Given the description of an element on the screen output the (x, y) to click on. 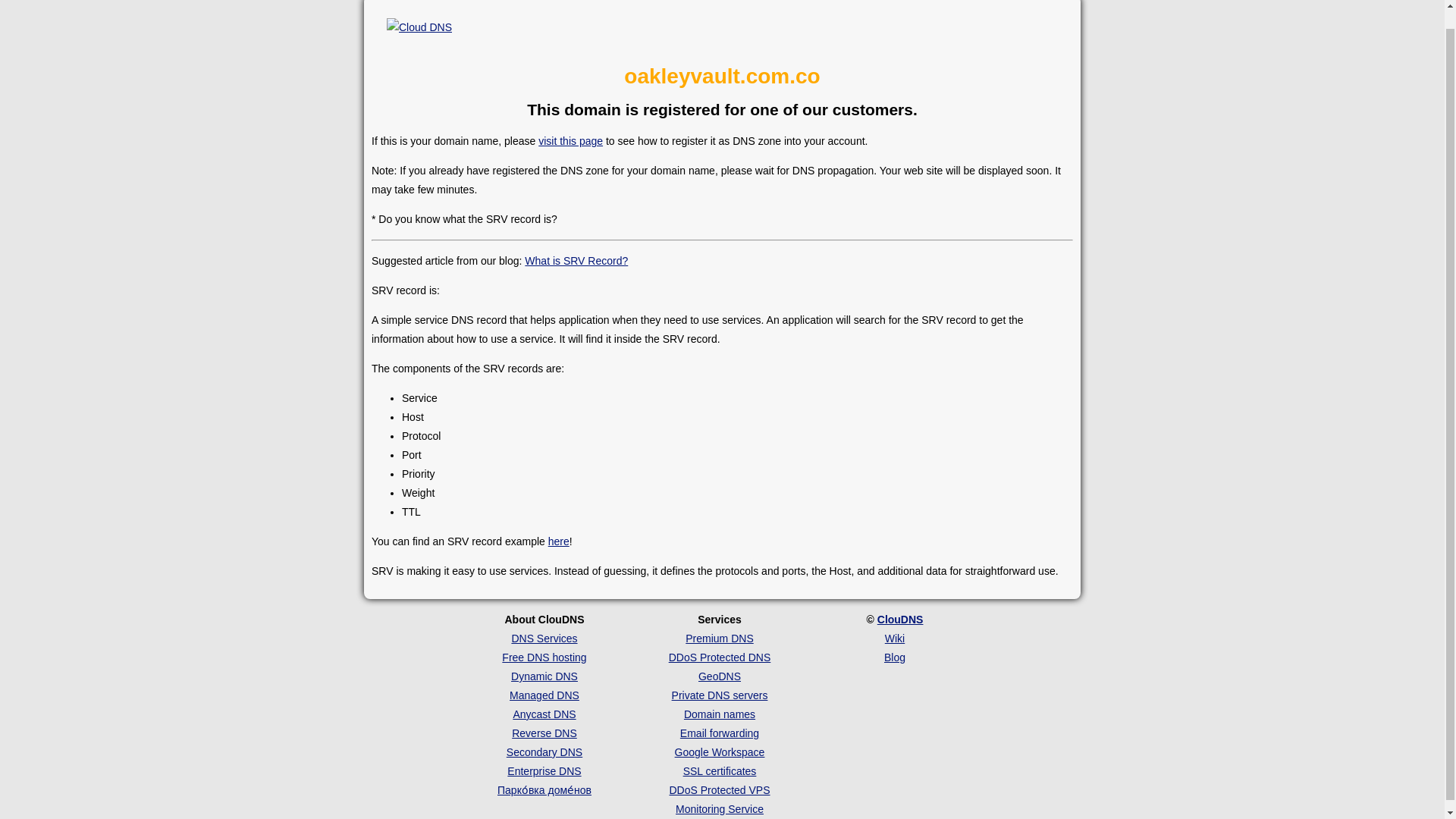
Wiki (894, 638)
Premium DNS (718, 638)
ClouDNS (900, 619)
Cloud DNS (443, 18)
visit this page (570, 141)
SSL certificates (719, 770)
Reverse DNS (544, 733)
Dynamic DNS (544, 676)
DDoS Protected DNS (719, 657)
DNS Services (543, 638)
